Given the description of an element on the screen output the (x, y) to click on. 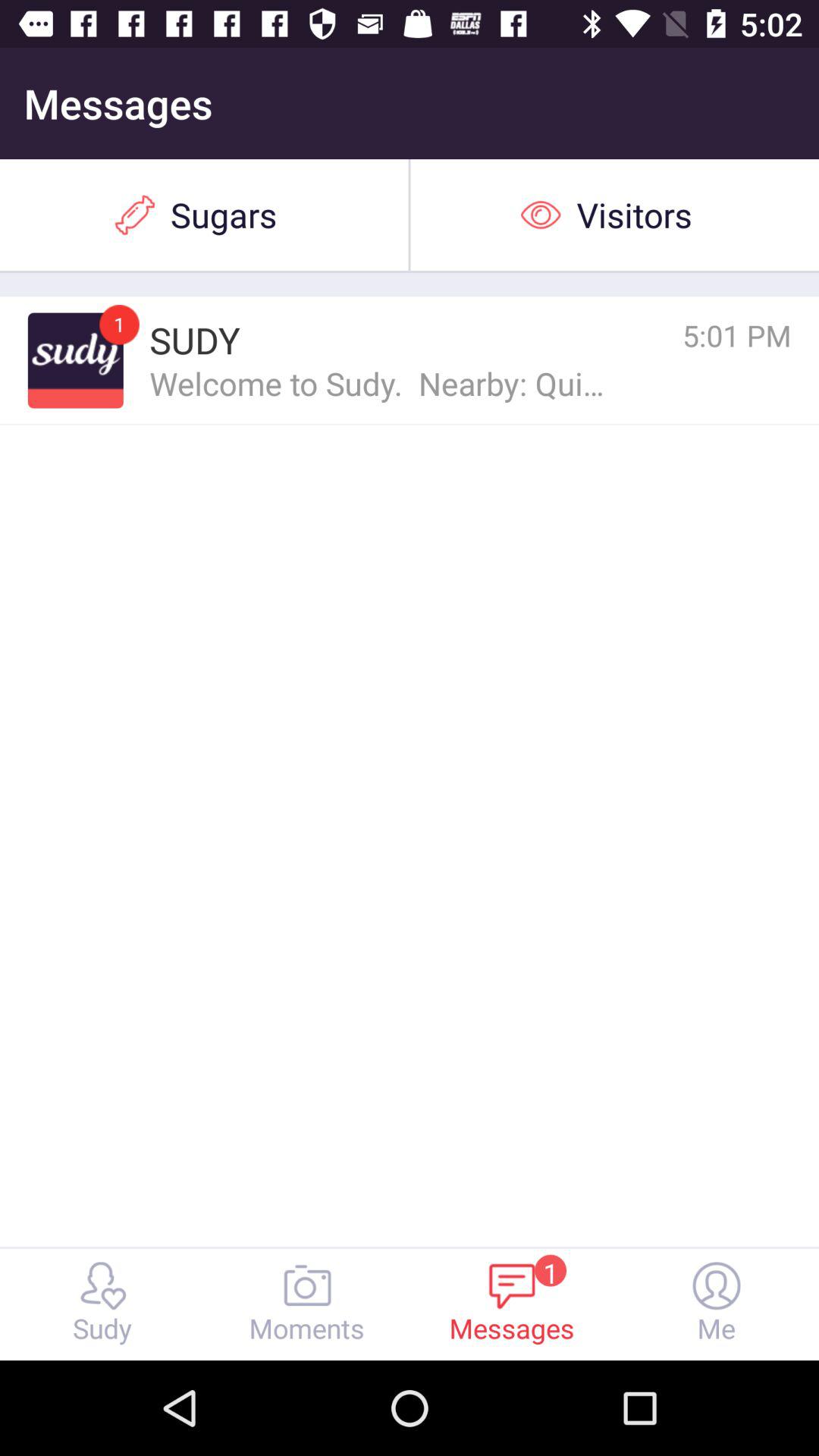
turn off icon to the left of sudy icon (75, 360)
